Given the description of an element on the screen output the (x, y) to click on. 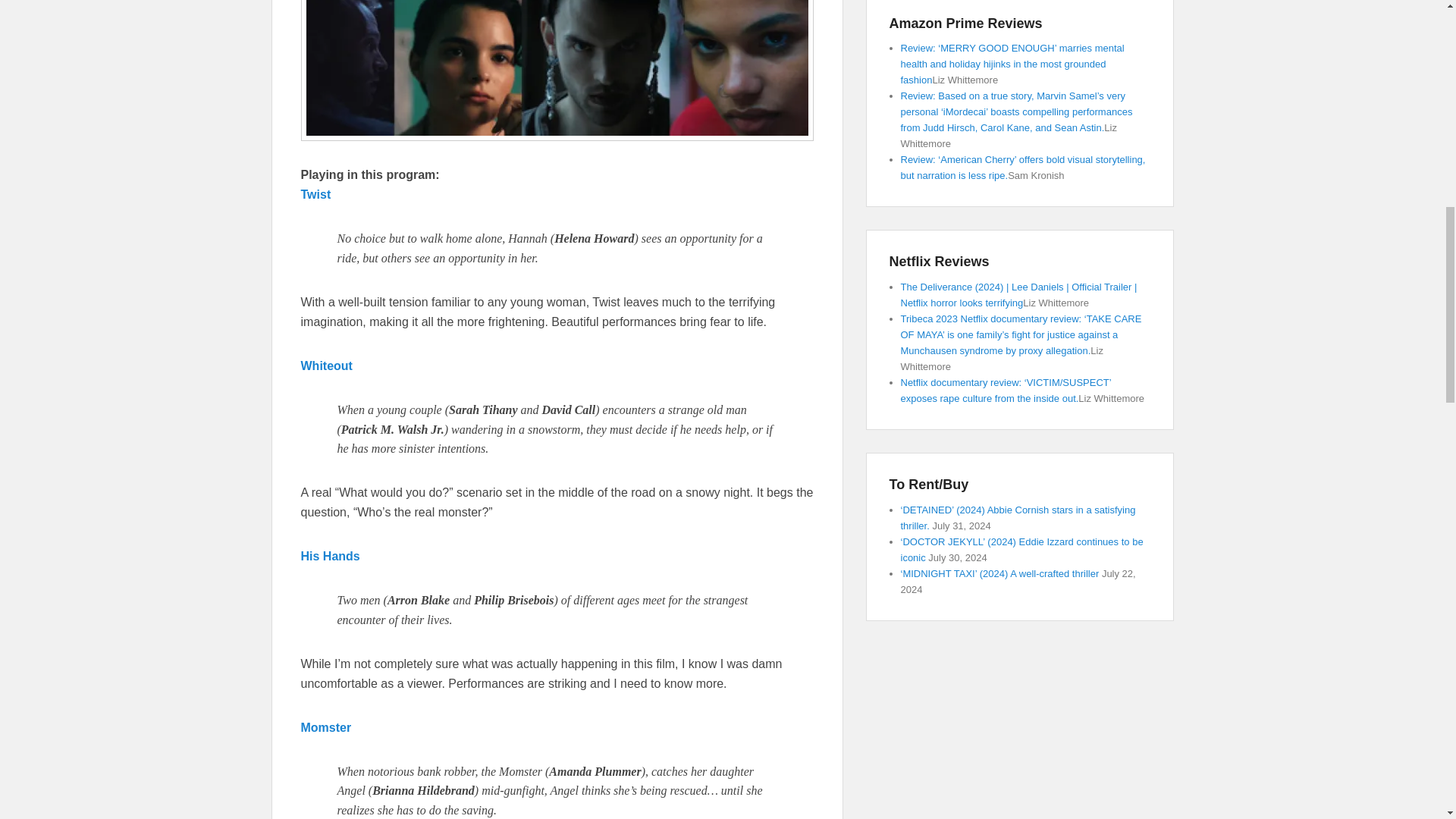
His Hands (329, 555)
Twist (314, 194)
Momster (324, 727)
Whiteout (325, 365)
